Given the description of an element on the screen output the (x, y) to click on. 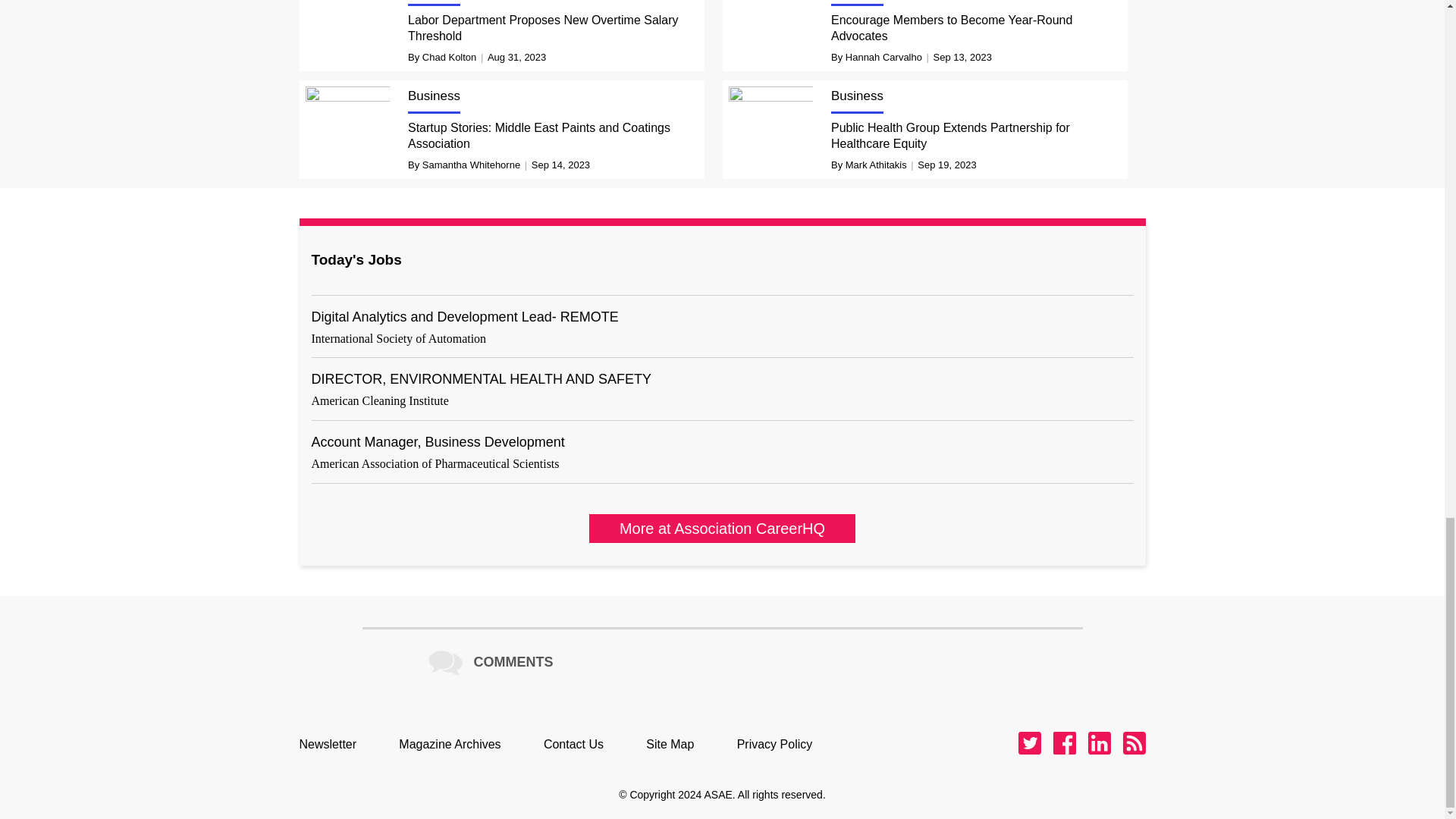
Visit us onLinkedIn (1098, 743)
Rss Feel (1133, 743)
Visit us onTwitter (1029, 743)
More at Association CareerHQ (722, 528)
Newsletter (334, 744)
